Given the description of an element on the screen output the (x, y) to click on. 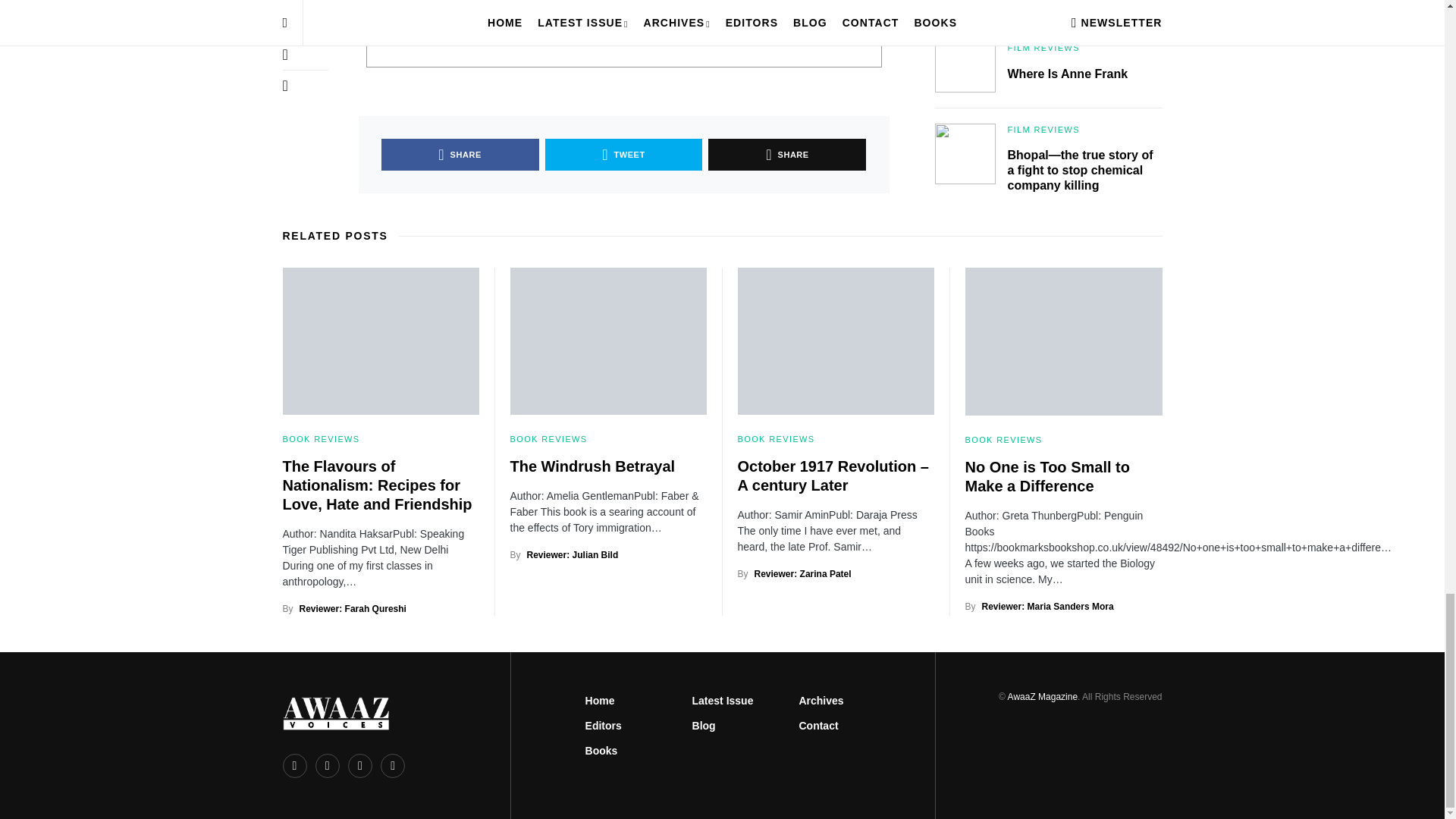
View all posts by Reviewer: Farah Qureshi (352, 608)
View all posts by Reviewer: Julian Bild (572, 554)
View all posts by Reviewer: Maria Sanders Mora (1047, 606)
View all posts by Reviewer: Zarina Patel (802, 573)
